Given the description of an element on the screen output the (x, y) to click on. 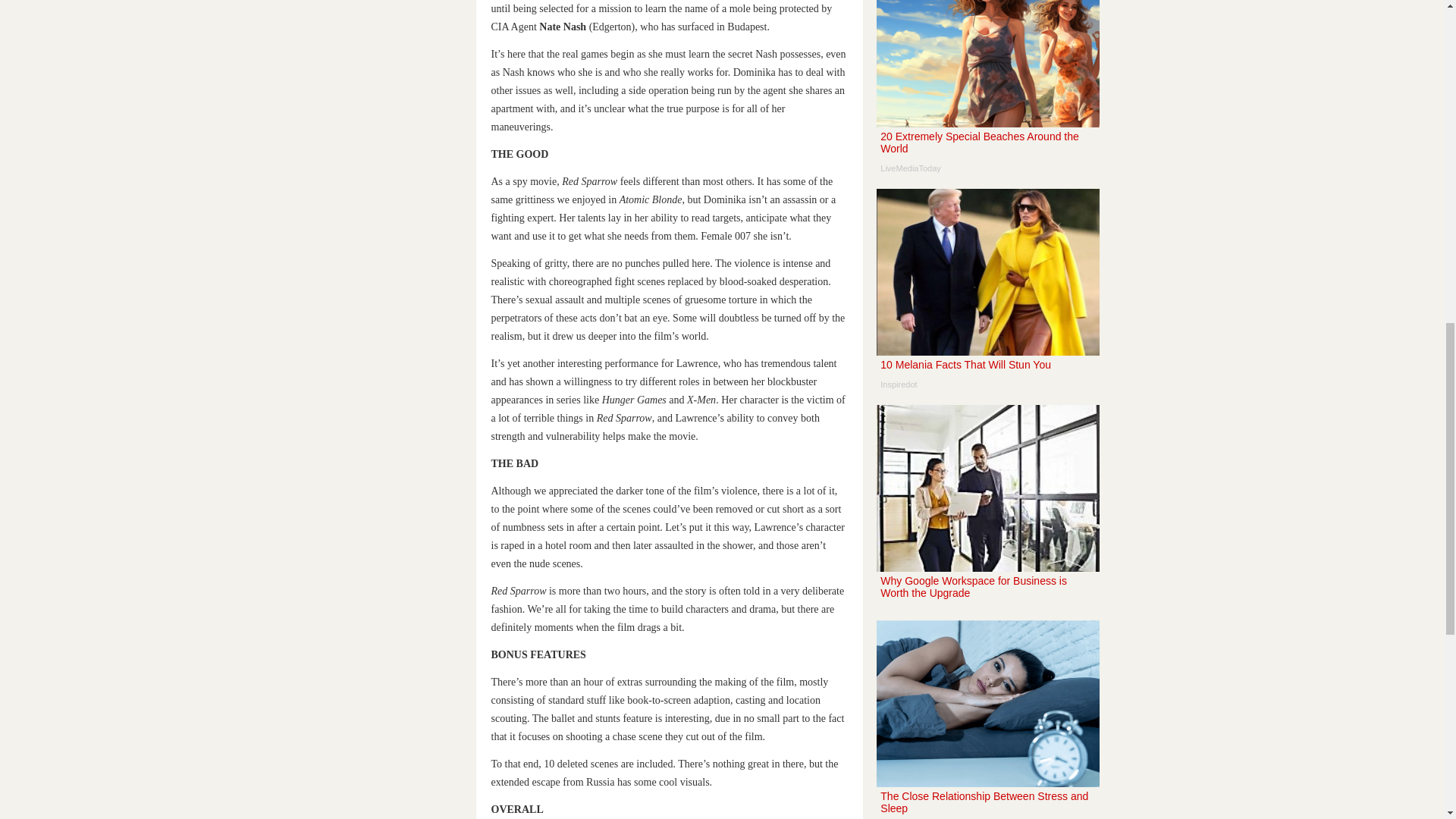
Why Google Workspace for Business is Worth the Upgrade (987, 509)
20 Extremely Special Beaches Around the World (987, 92)
Why Google Workspace for Business is Worth the Upgrade (987, 92)
The Close Relationship Between Stress and Sleep (987, 509)
10 Melania Facts That Will Stun You (987, 719)
The Close Relationship Between Stress and Sleep (987, 294)
